Given the description of an element on the screen output the (x, y) to click on. 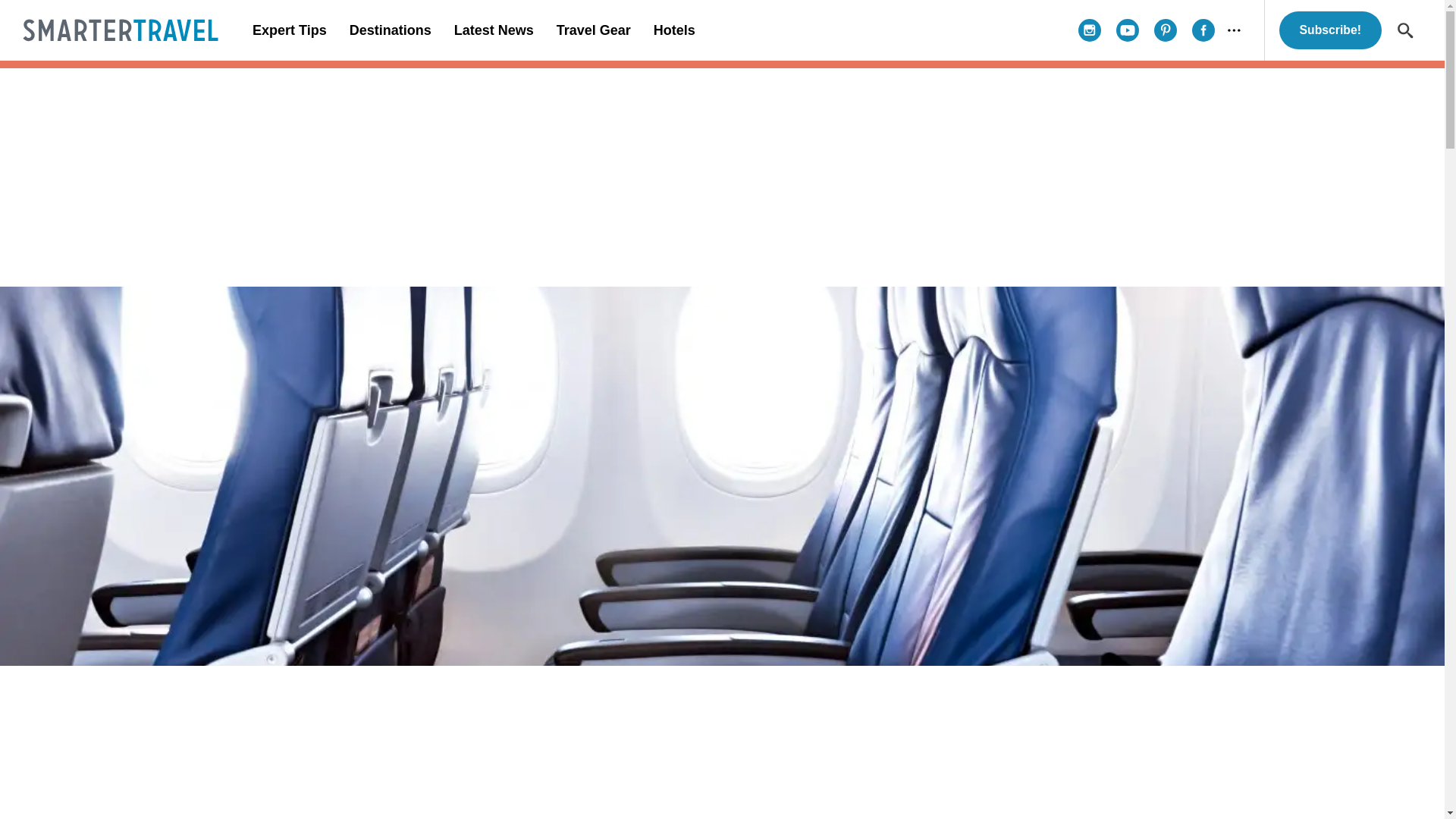
Travel Gear (593, 30)
Expert Tips (289, 30)
Hotels (674, 30)
Destinations (389, 30)
Subscribe! (1330, 30)
Latest News (493, 30)
